Given the description of an element on the screen output the (x, y) to click on. 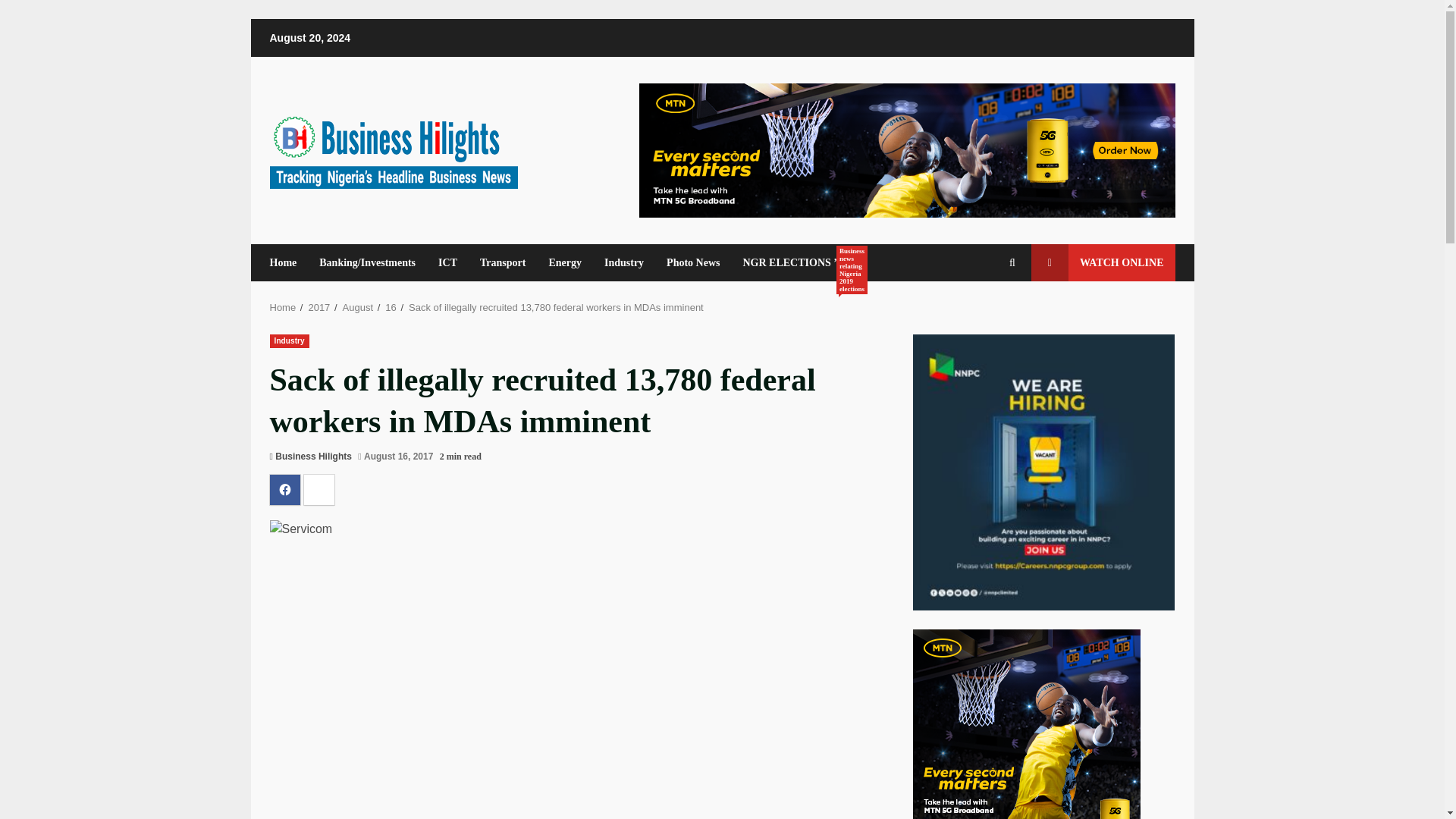
Transport (502, 262)
2017 (318, 307)
Energy (564, 262)
Photo News (692, 262)
Business Hilights (313, 456)
Search (984, 314)
Home (283, 307)
Home (288, 262)
